Given the description of an element on the screen output the (x, y) to click on. 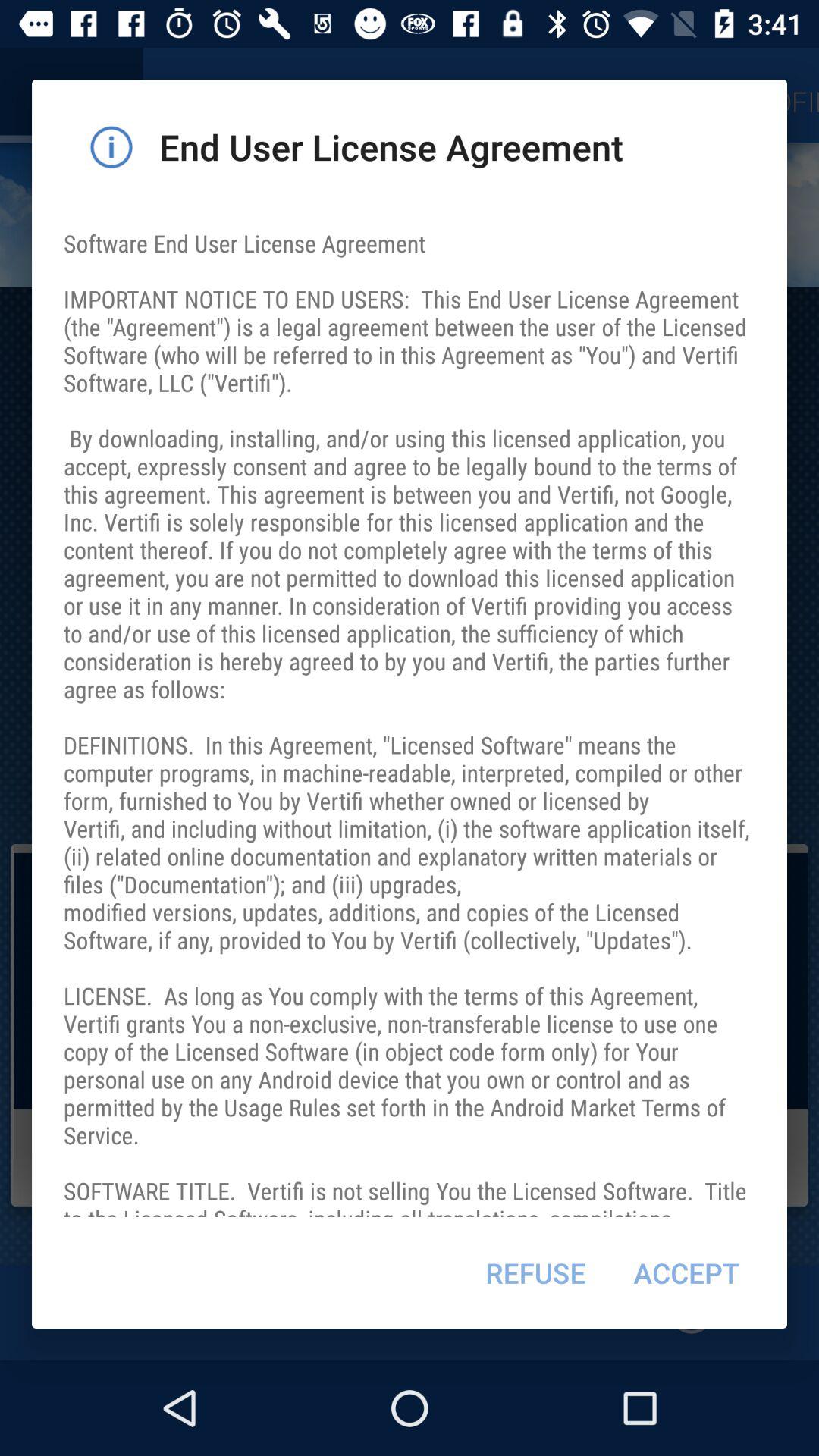
choose icon next to the accept icon (535, 1272)
